Given the description of an element on the screen output the (x, y) to click on. 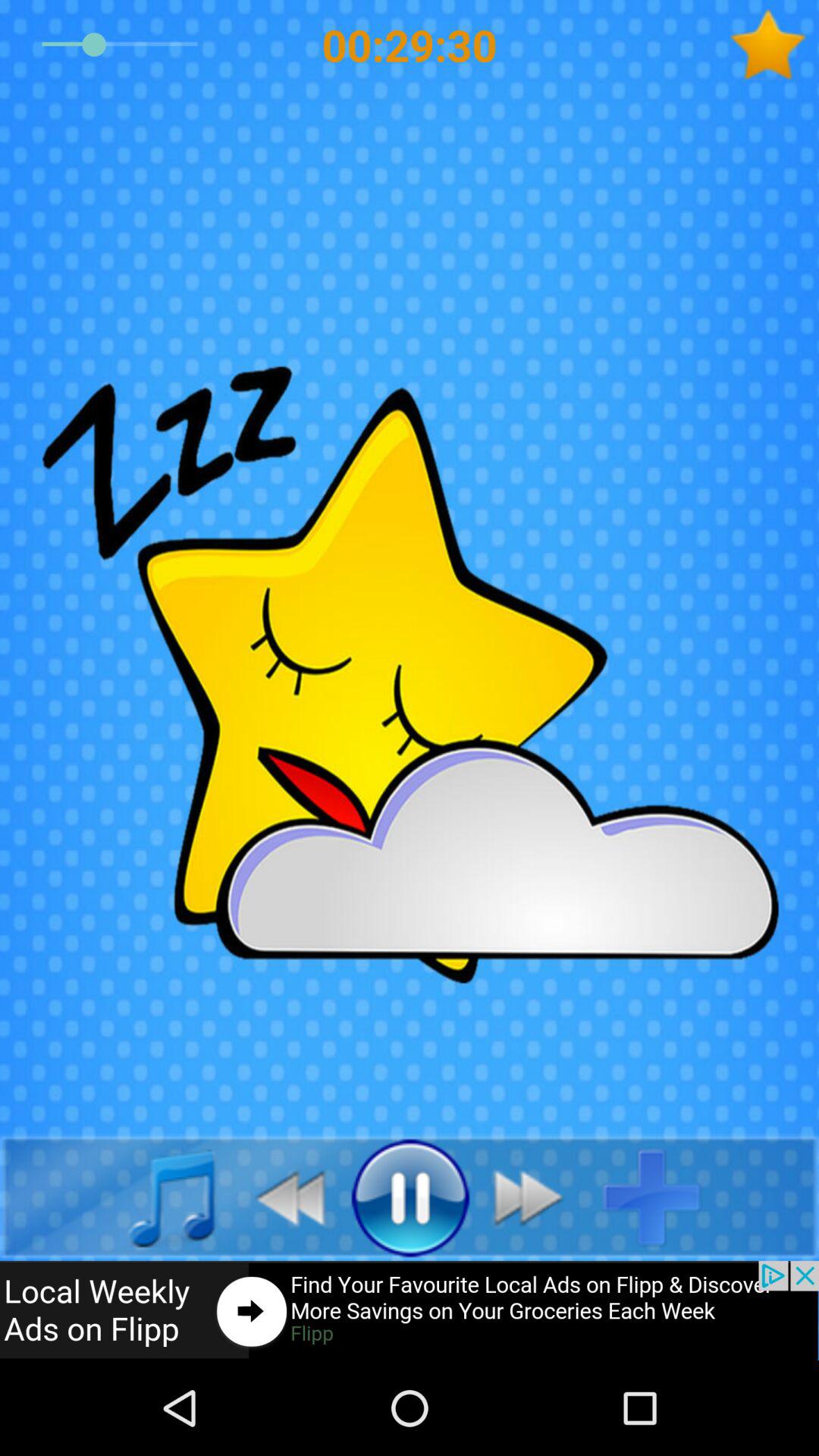
favourite option (774, 44)
